Given the description of an element on the screen output the (x, y) to click on. 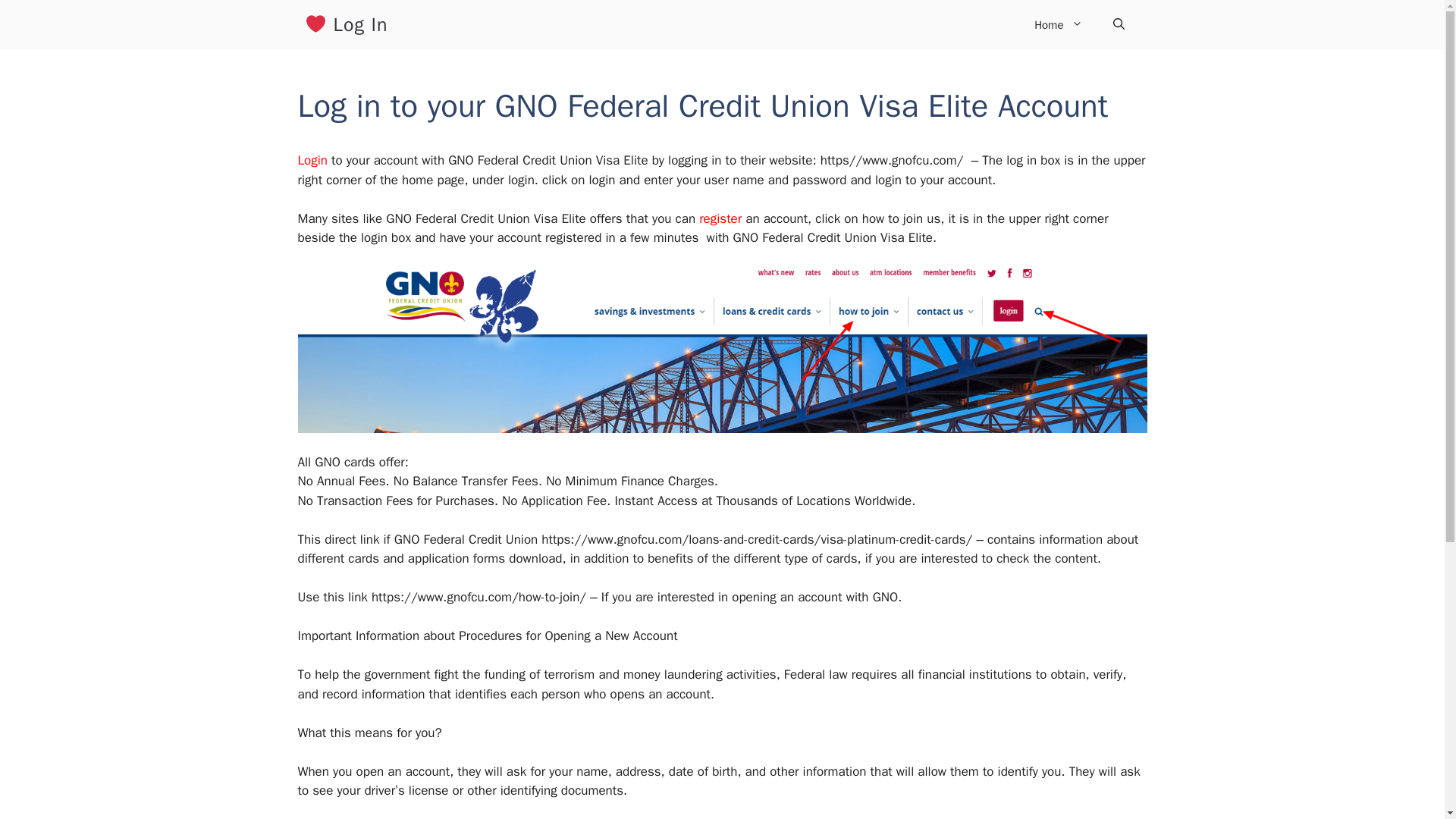
Log In (345, 24)
Home (1058, 23)
